Given the description of an element on the screen output the (x, y) to click on. 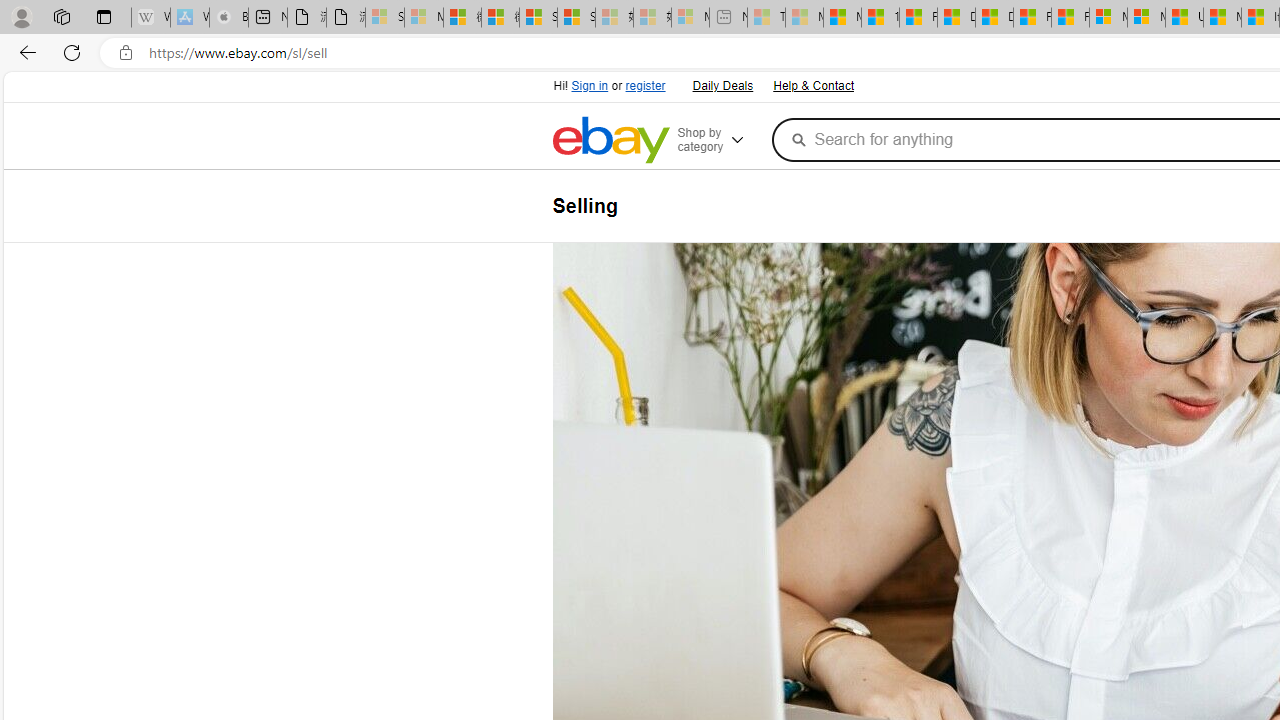
Top Stories - MSN - Sleeping (765, 17)
Microsoft Services Agreement - Sleeping (423, 17)
Buy iPad - Apple - Sleeping (228, 17)
